Given the description of an element on the screen output the (x, y) to click on. 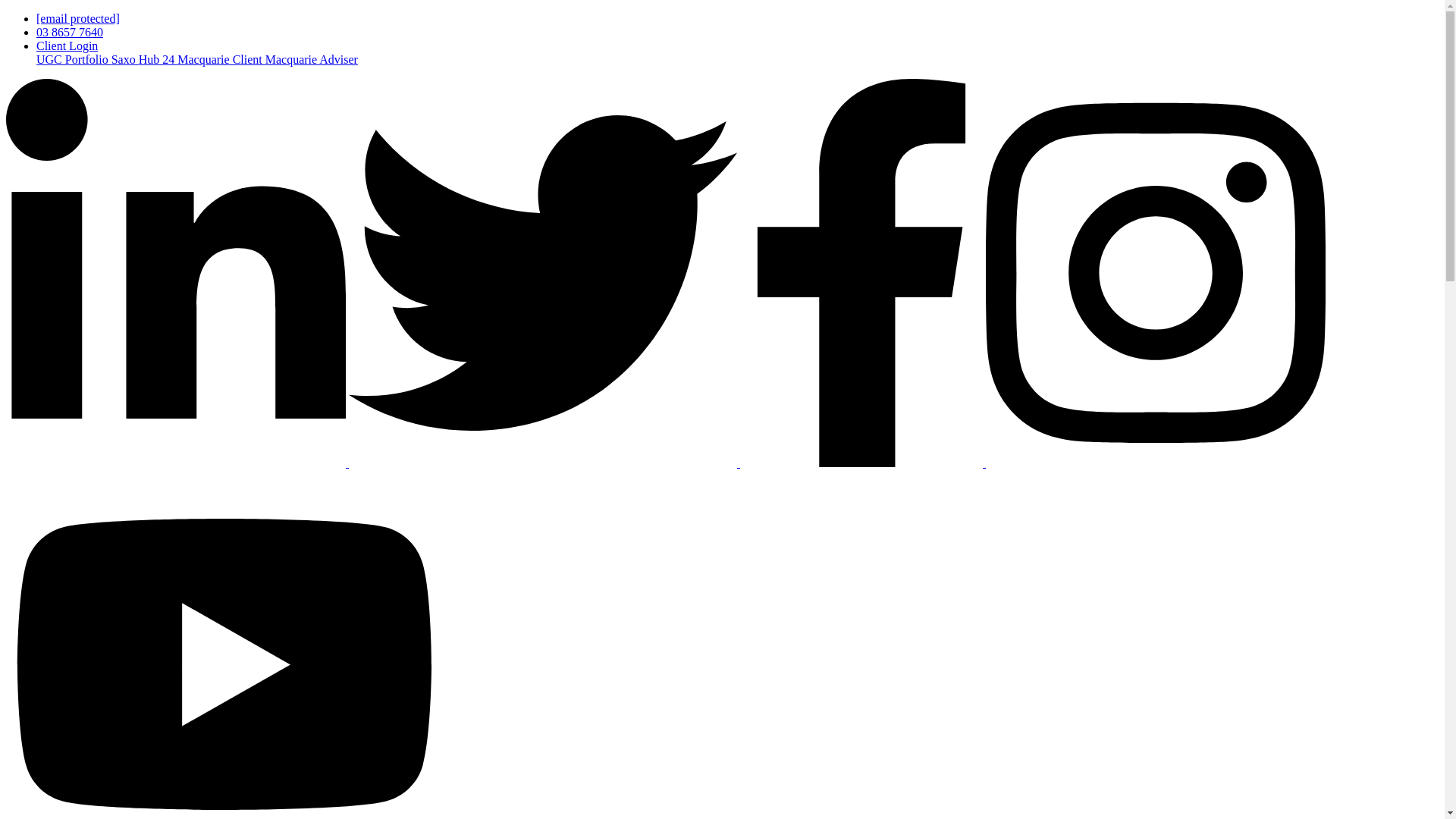
View United Global Capital's Twitter Page (544, 462)
View United Global Capital's LinkedIn Page (177, 462)
View United Global Capital's Instagram Page (1154, 462)
03 8657 7640 (69, 31)
UGC Portfolio (74, 59)
Macquarie Client (220, 59)
Macquarie Adviser (311, 59)
Saxo (125, 59)
Hub 24 (157, 59)
Client Login (66, 45)
View United Global Capital's Facebook Page (862, 462)
